Given the description of an element on the screen output the (x, y) to click on. 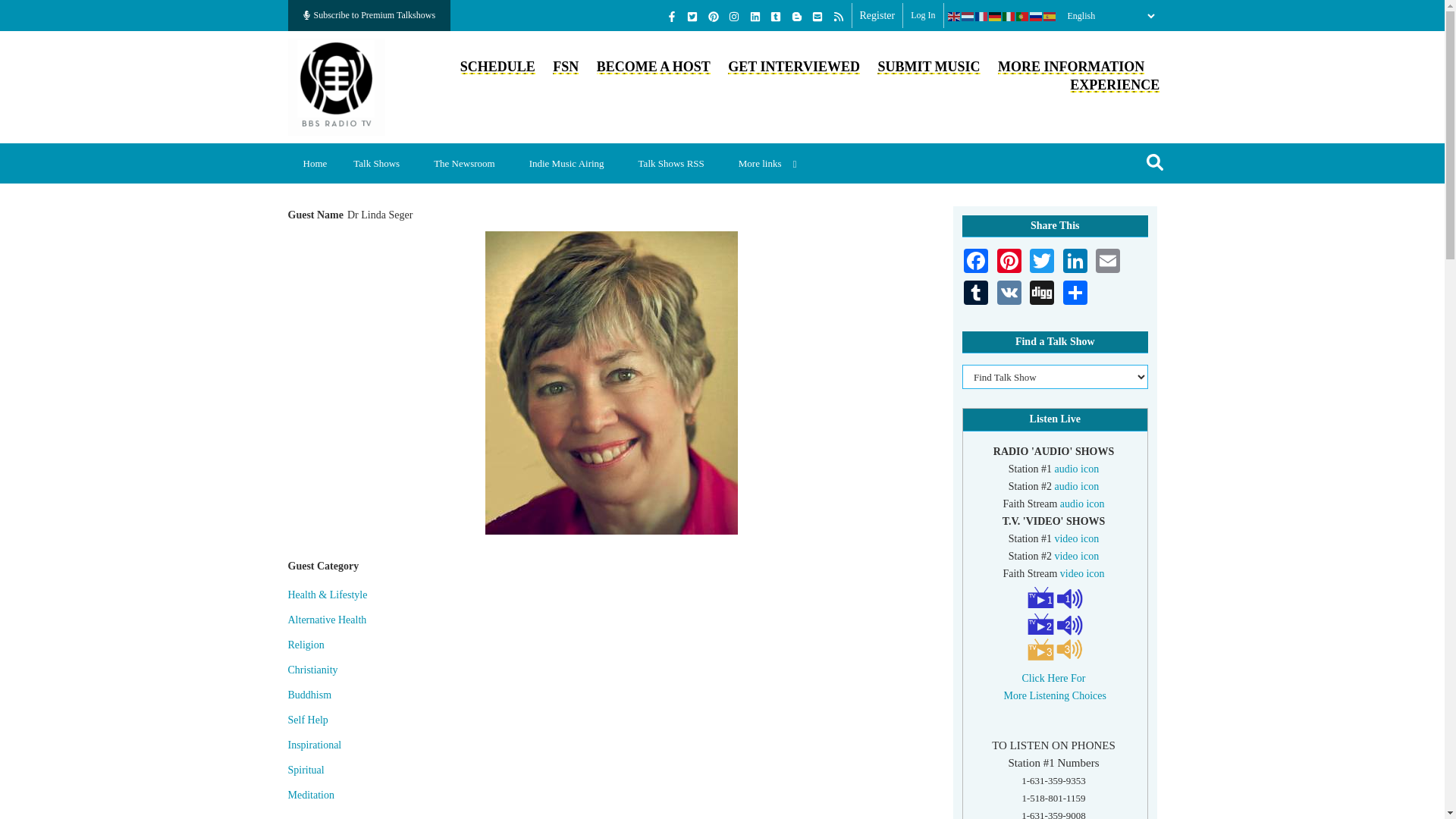
SUBMIT MUSIC (928, 66)
BECOME A HOST (653, 66)
Deutsch (995, 15)
The Experience of Live Talk Shows Done Right! (1114, 84)
BBS Radio TV Live Audio Stream for Station 2 (1076, 486)
Italiano (1009, 15)
Home (315, 163)
Home (336, 85)
Faith Stream Network Live Audio Stream for Station 3 (1082, 503)
Faith Stream Network (565, 66)
FSN (565, 66)
Nederlands (967, 15)
EXPERIENCE (1114, 84)
Talk Shows (382, 163)
English (953, 15)
